Given the description of an element on the screen output the (x, y) to click on. 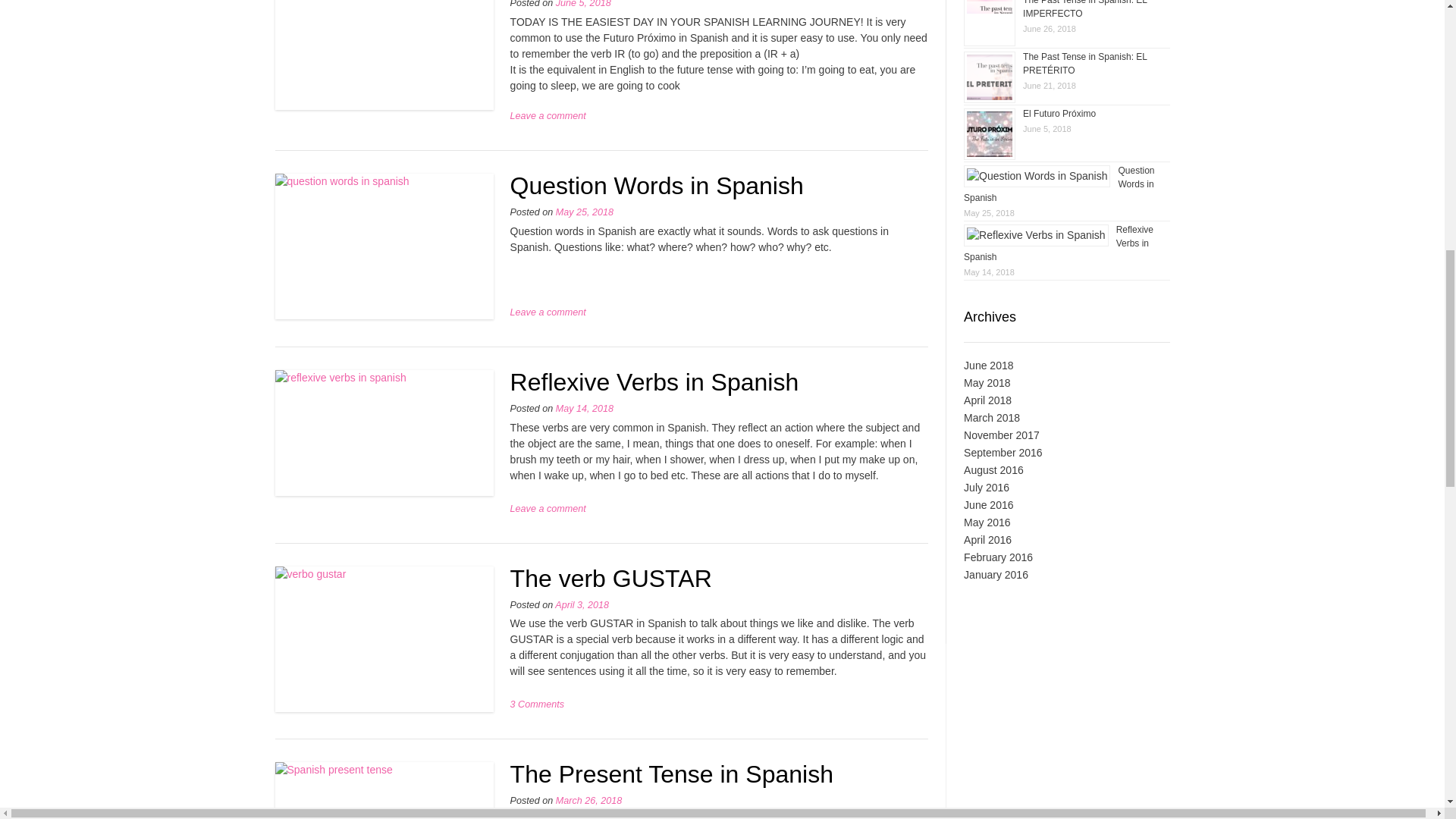
April 3, 2018 (581, 603)
May 14, 2018 (584, 408)
June 5, 2018 (583, 4)
Permalink to Reflexive Verbs in Spanish (1058, 243)
Permalink to The Past Tense in Spanish: EL IMPERFECTO (1085, 9)
Reflexive Verbs in Spanish (655, 381)
Question Words in Spanish (657, 185)
May 25, 2018 (584, 212)
The verb GUSTAR (611, 577)
Permalink to Question Words in Spanish (1058, 184)
Leave a comment (548, 312)
Leave a comment (548, 115)
Leave a comment (548, 508)
